Given the description of an element on the screen output the (x, y) to click on. 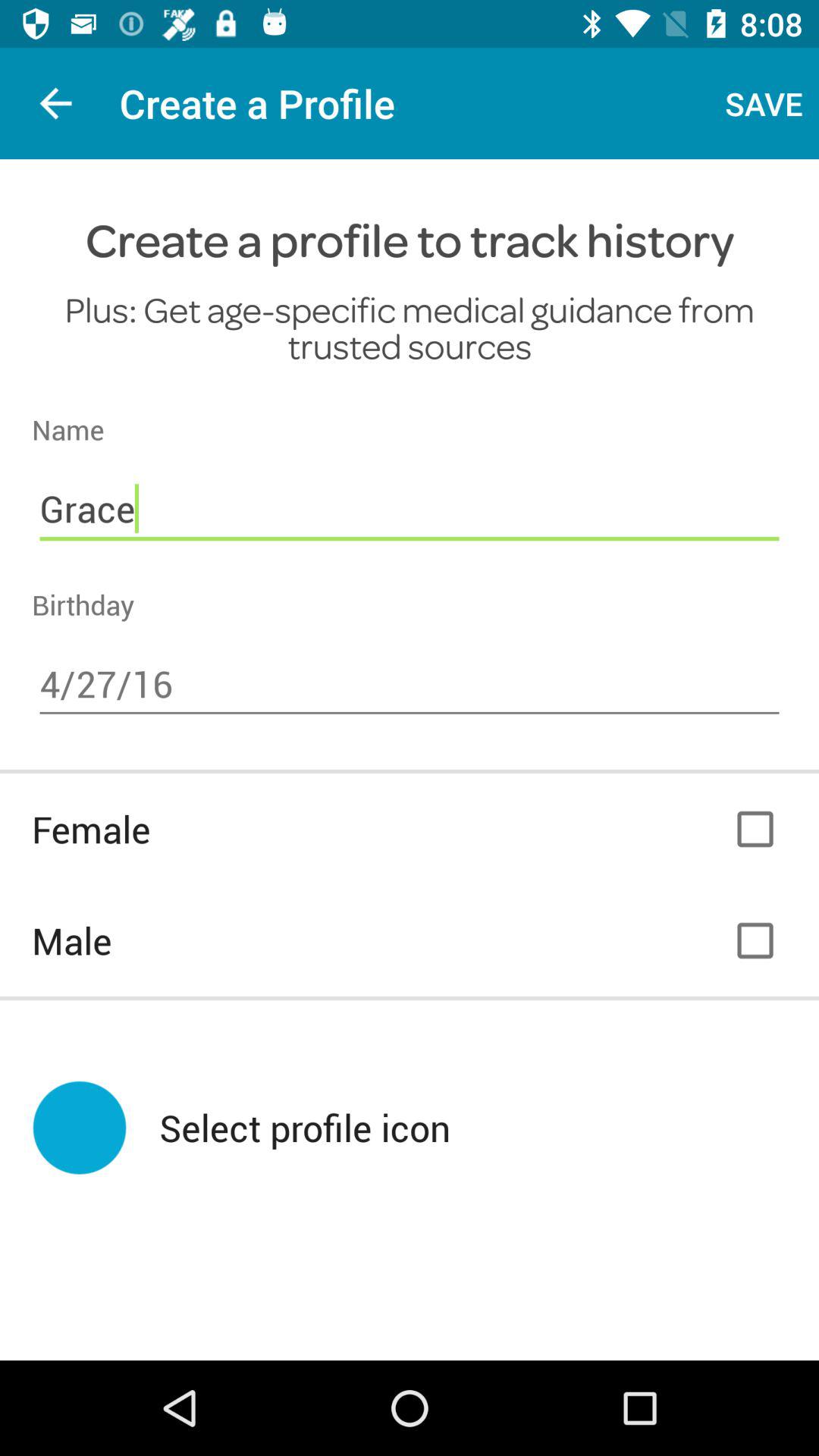
select gender female (755, 828)
